Given the description of an element on the screen output the (x, y) to click on. 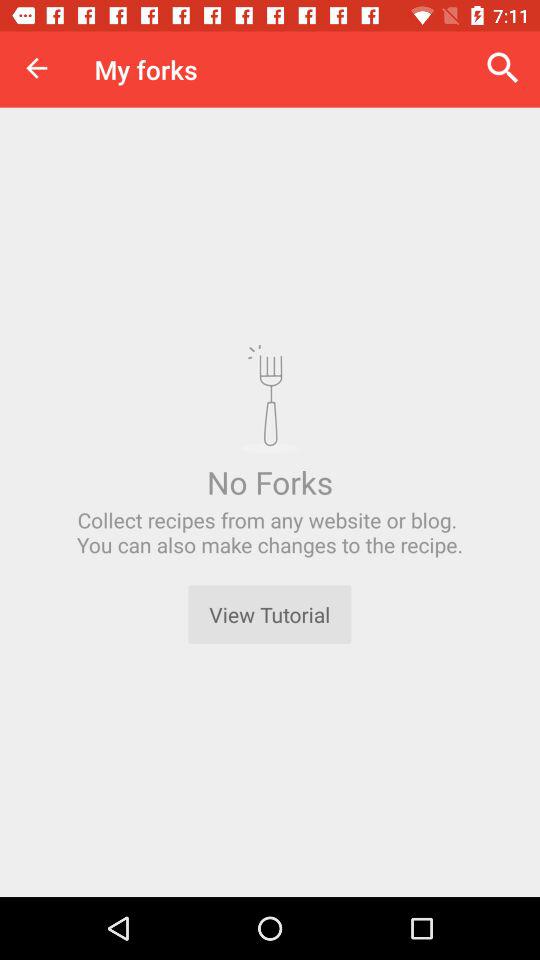
turn on item at the top right corner (503, 67)
